Given the description of an element on the screen output the (x, y) to click on. 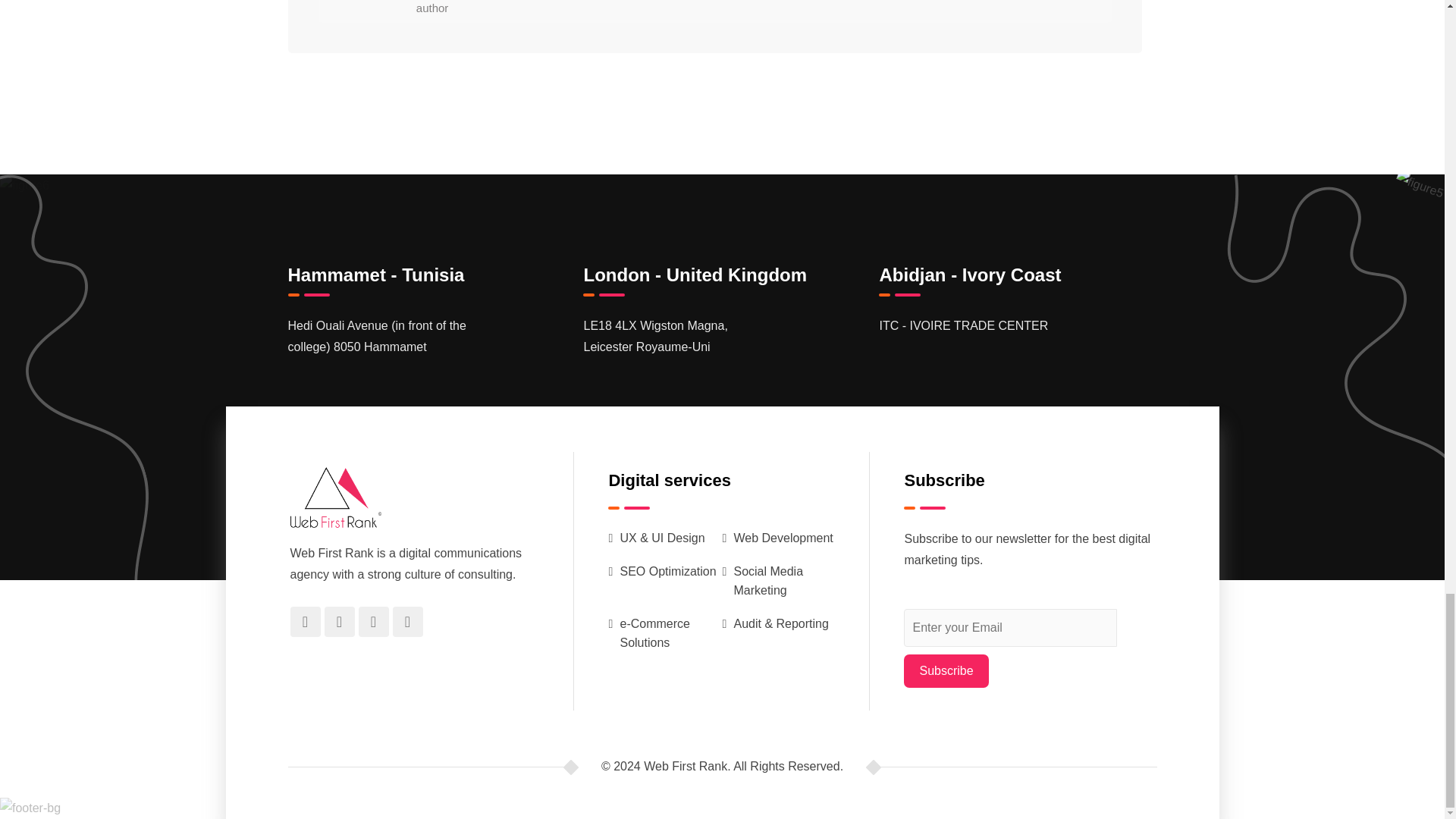
Subscribe (946, 670)
